Given the description of an element on the screen output the (x, y) to click on. 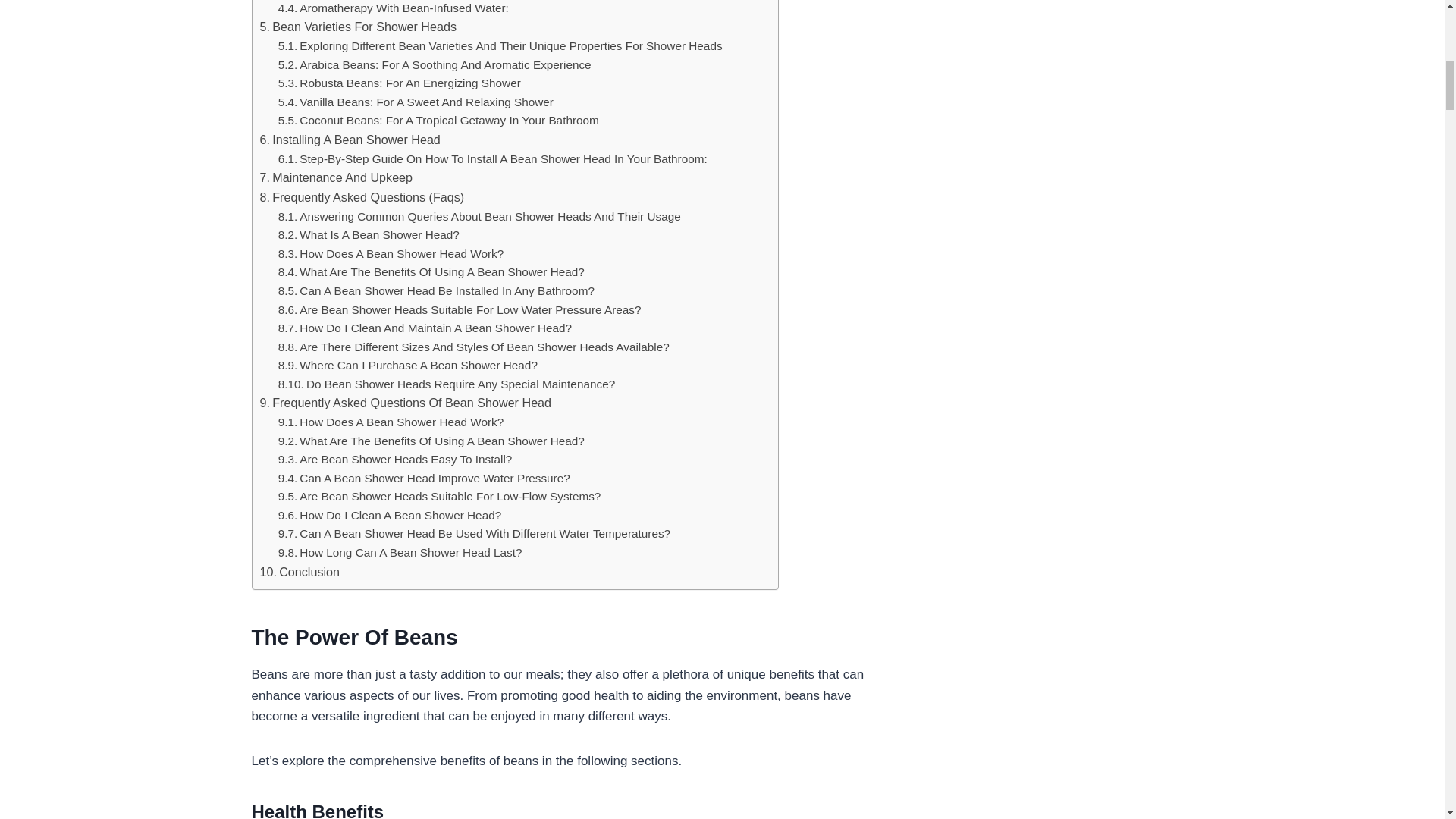
Installing A Bean Shower Head (349, 139)
Arabica Beans: For A Soothing And Aromatic Experience (434, 65)
Bean Varieties For Shower Heads (358, 26)
Maintenance And Upkeep (335, 178)
Aromatherapy With Bean-Infused Water: (393, 9)
Coconut Beans: For A Tropical Getaway In Your Bathroom (438, 120)
Vanilla Beans: For A Sweet And Relaxing Shower (415, 102)
Aromatherapy With Bean-Infused Water: (393, 9)
Robusta Beans: For An Energizing Shower (399, 83)
